Given the description of an element on the screen output the (x, y) to click on. 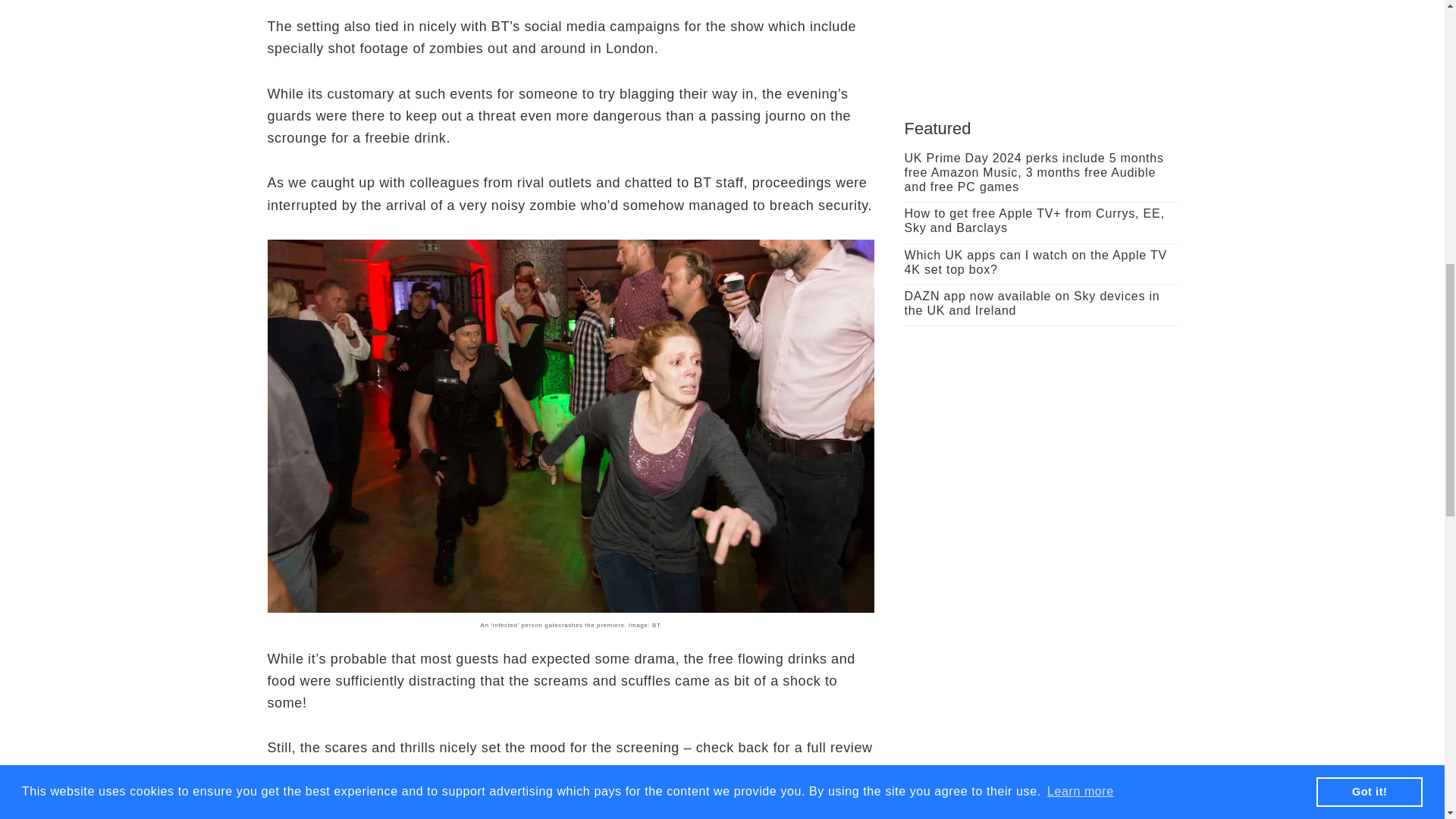
Which UK apps can I watch on the Apple TV 4K set top box?  (1035, 262)
Advertisement (1040, 37)
DAZN app now available on Sky devices in the UK and Ireland (1031, 302)
